Given the description of an element on the screen output the (x, y) to click on. 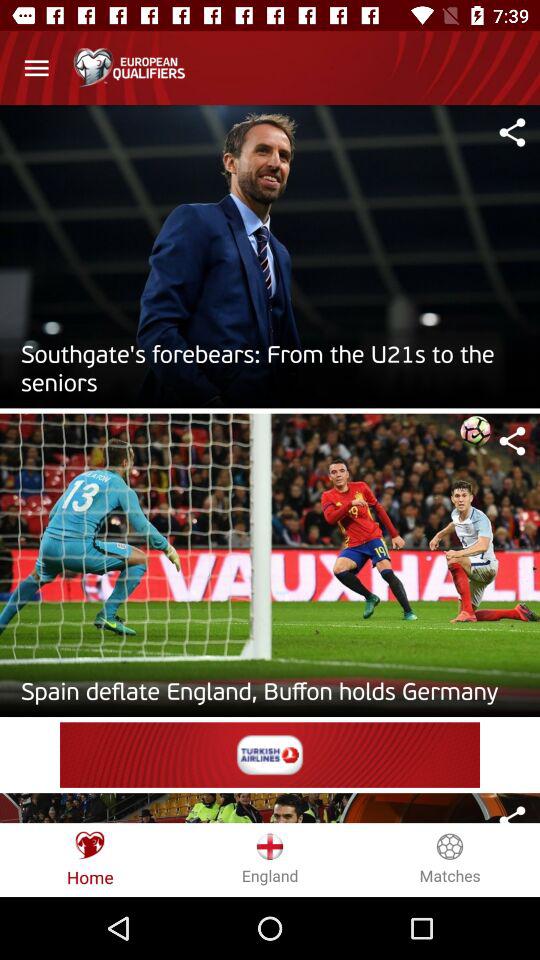
share the article (512, 813)
